Given the description of an element on the screen output the (x, y) to click on. 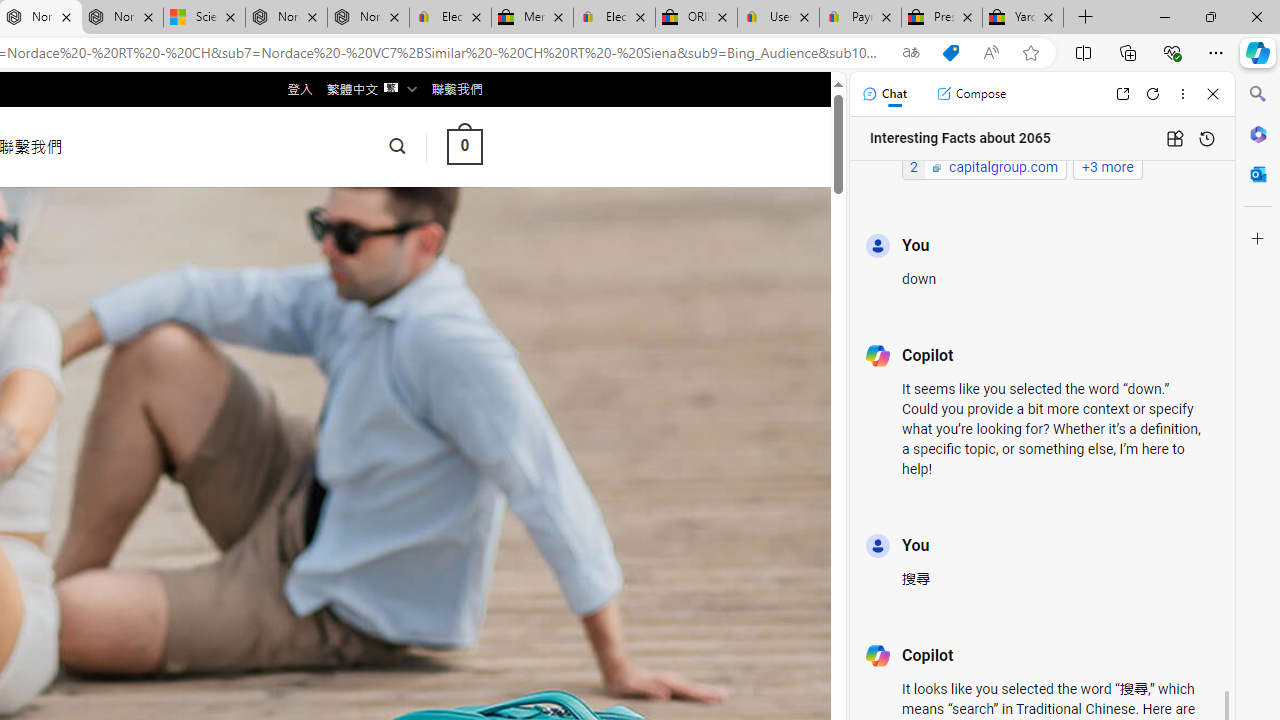
Nordace - Summer Adventures 2024 (285, 17)
Yard, Garden & Outdoor Living (1023, 17)
User Privacy Notice | eBay (778, 17)
